Given the description of an element on the screen output the (x, y) to click on. 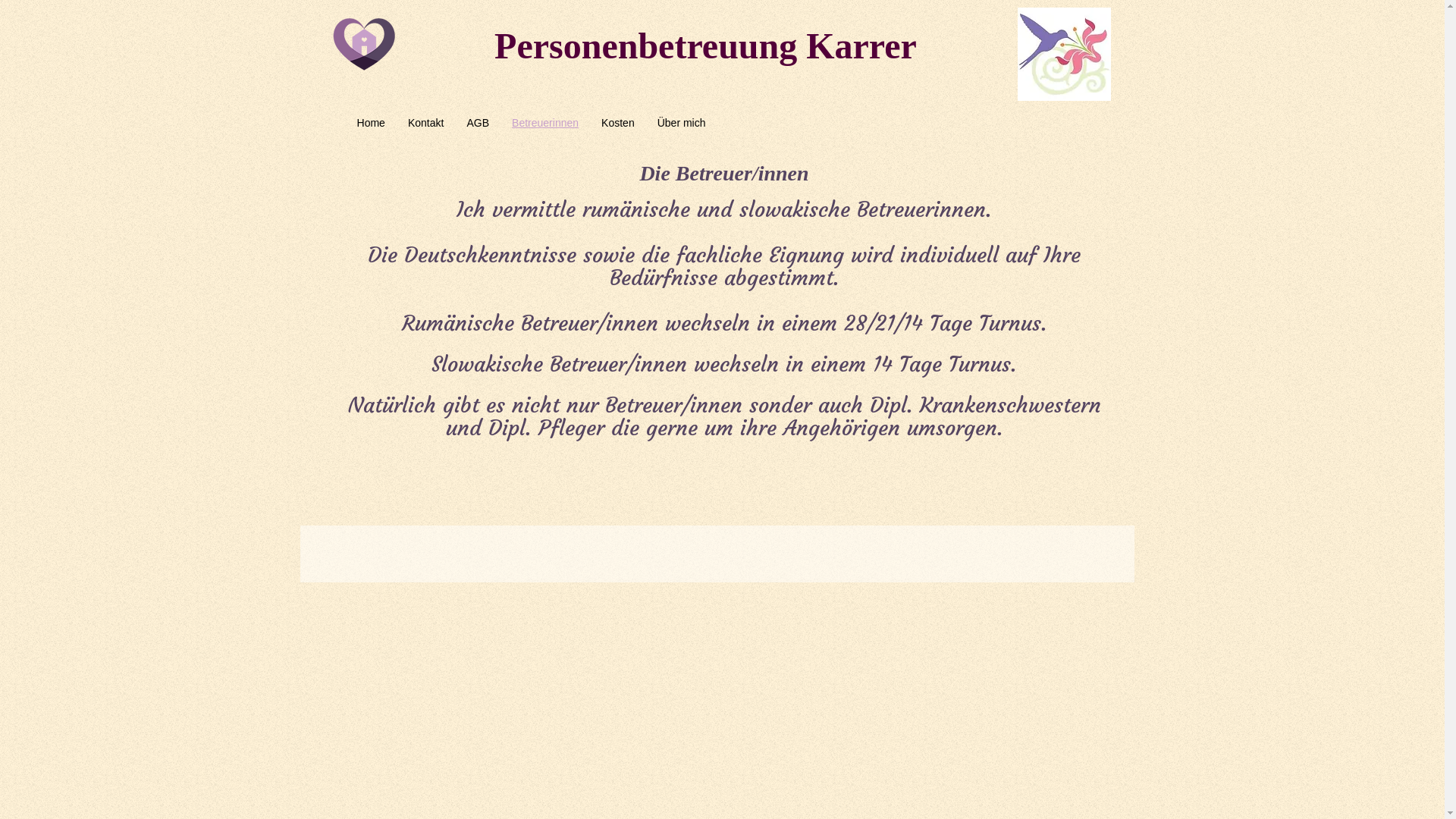
Kosten Element type: text (617, 122)
AGB Element type: text (477, 122)
Betreuerinnen Element type: text (544, 122)
Home Element type: text (370, 122)
Kontakt Element type: text (425, 122)
